Given the description of an element on the screen output the (x, y) to click on. 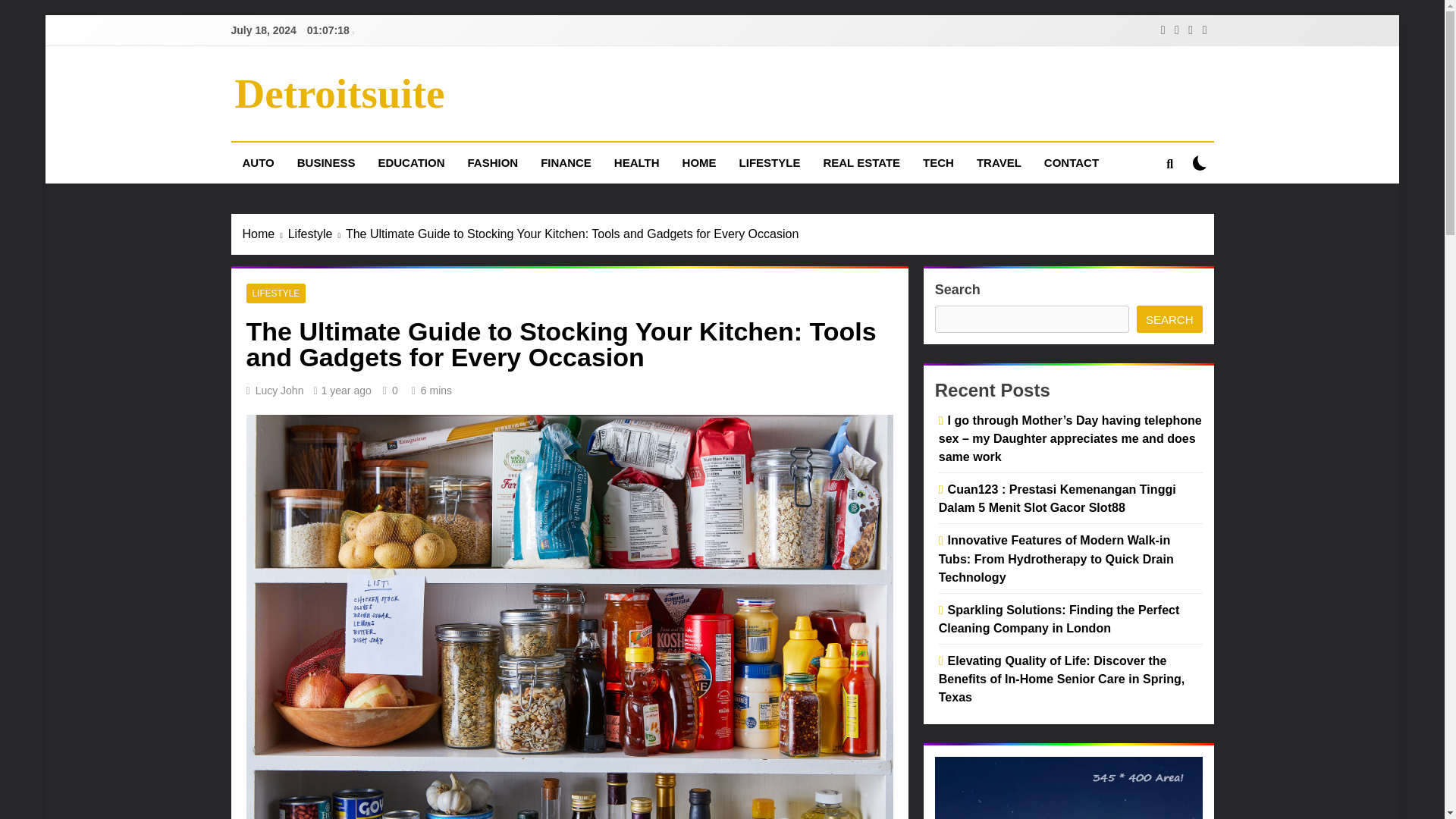
FASHION (492, 162)
LIFESTYLE (275, 293)
TRAVEL (998, 162)
Home (265, 234)
on (1199, 162)
HOME (699, 162)
FINANCE (565, 162)
TECH (938, 162)
LIFESTYLE (770, 162)
BUSINESS (325, 162)
HEALTH (636, 162)
EDUCATION (410, 162)
CONTACT (1070, 162)
Lifestyle (317, 234)
